Given the description of an element on the screen output the (x, y) to click on. 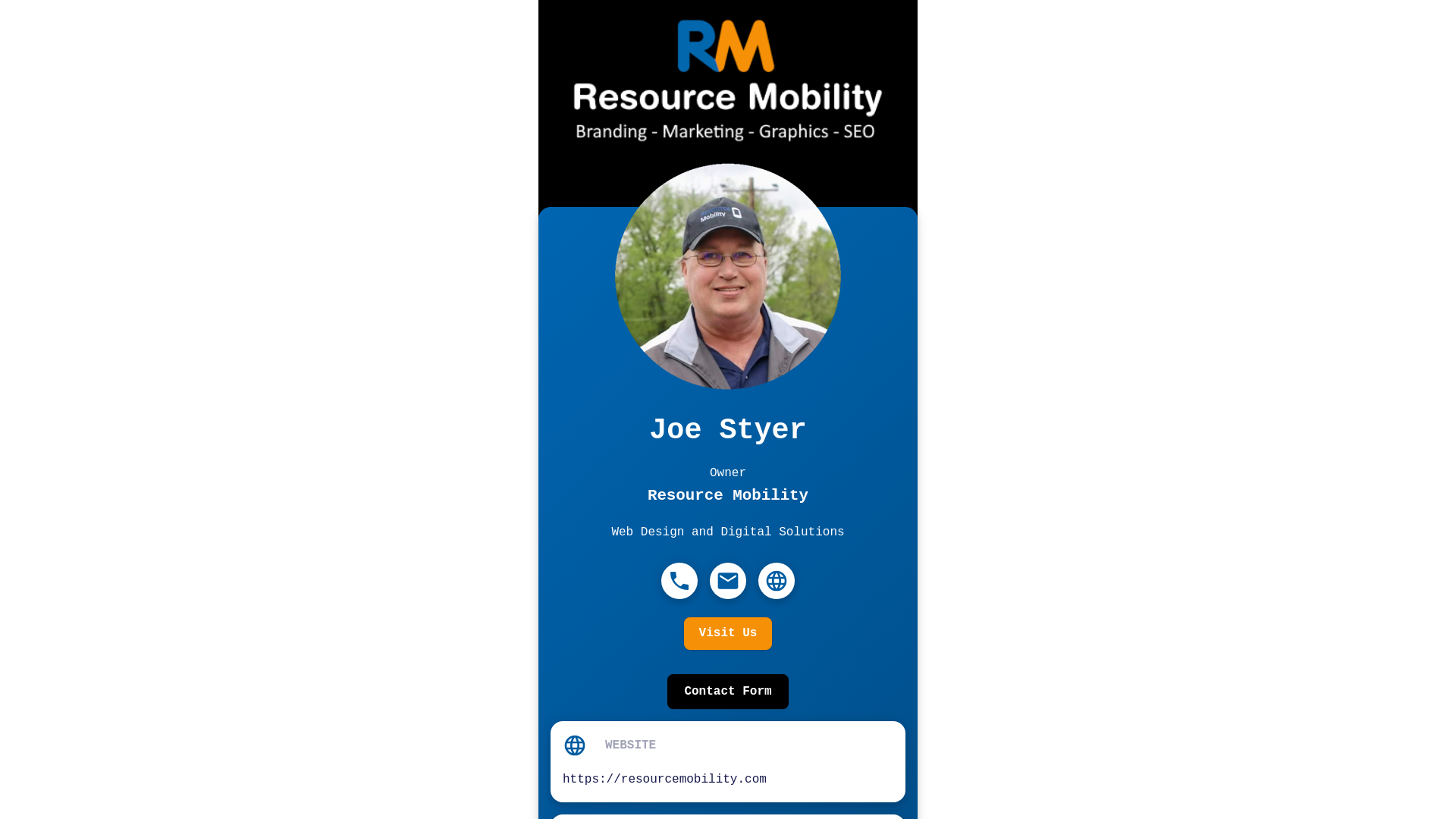
https://resourcemobility.com Element type: text (664, 779)
Contact Form Element type: text (727, 691)
Visit Us Element type: text (728, 633)
